Given the description of an element on the screen output the (x, y) to click on. 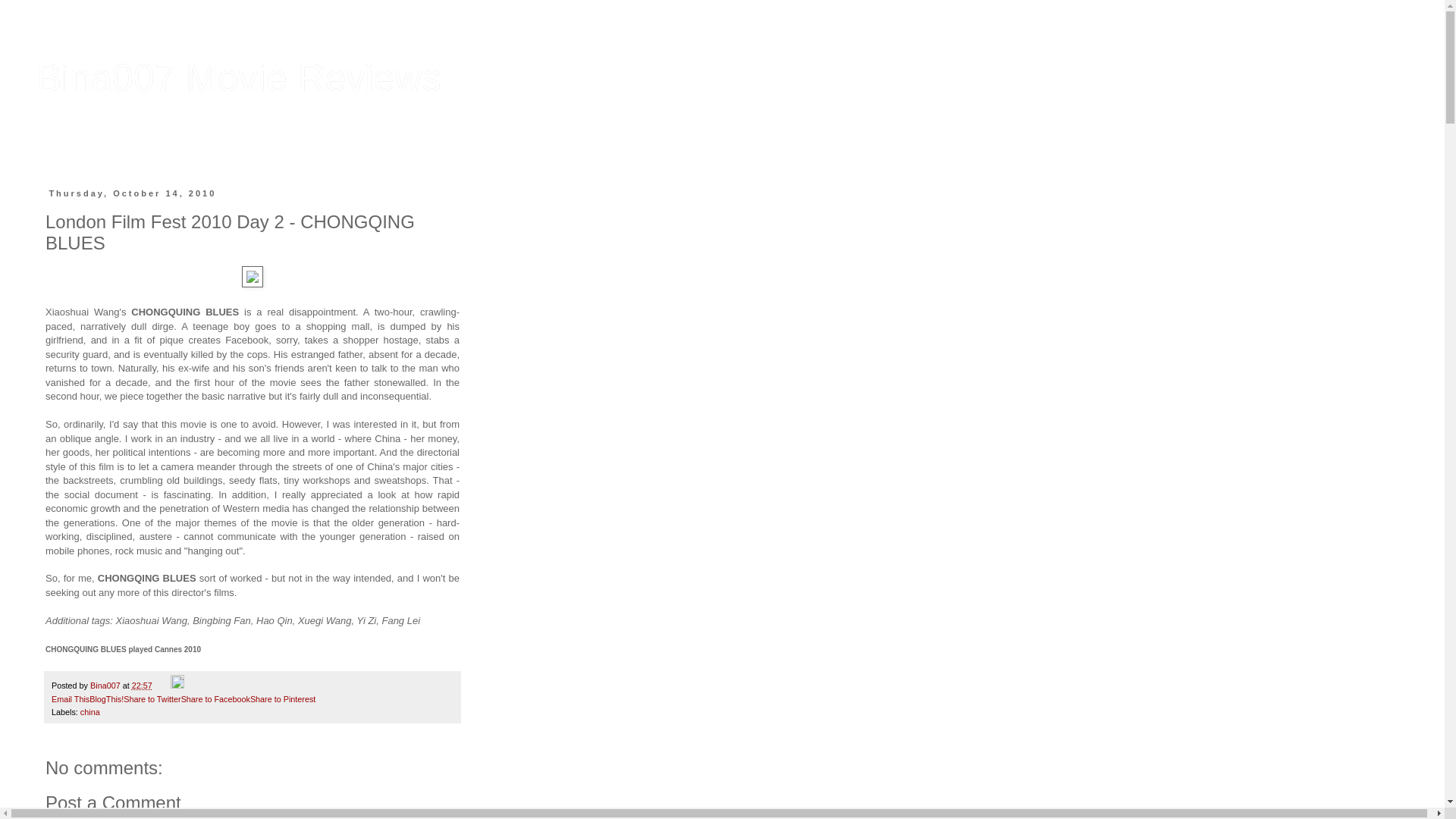
Share to Facebook (215, 698)
Bina007 (106, 685)
22:57 (142, 685)
Share to Twitter (151, 698)
Bina007 Movie Reviews (238, 77)
Edit Post (177, 685)
Email This (69, 698)
permanent link (142, 685)
BlogThis! (105, 698)
Email Post (162, 685)
Share to Facebook (215, 698)
author profile (106, 685)
Share to Pinterest (282, 698)
china (90, 711)
Email This (69, 698)
